Given the description of an element on the screen output the (x, y) to click on. 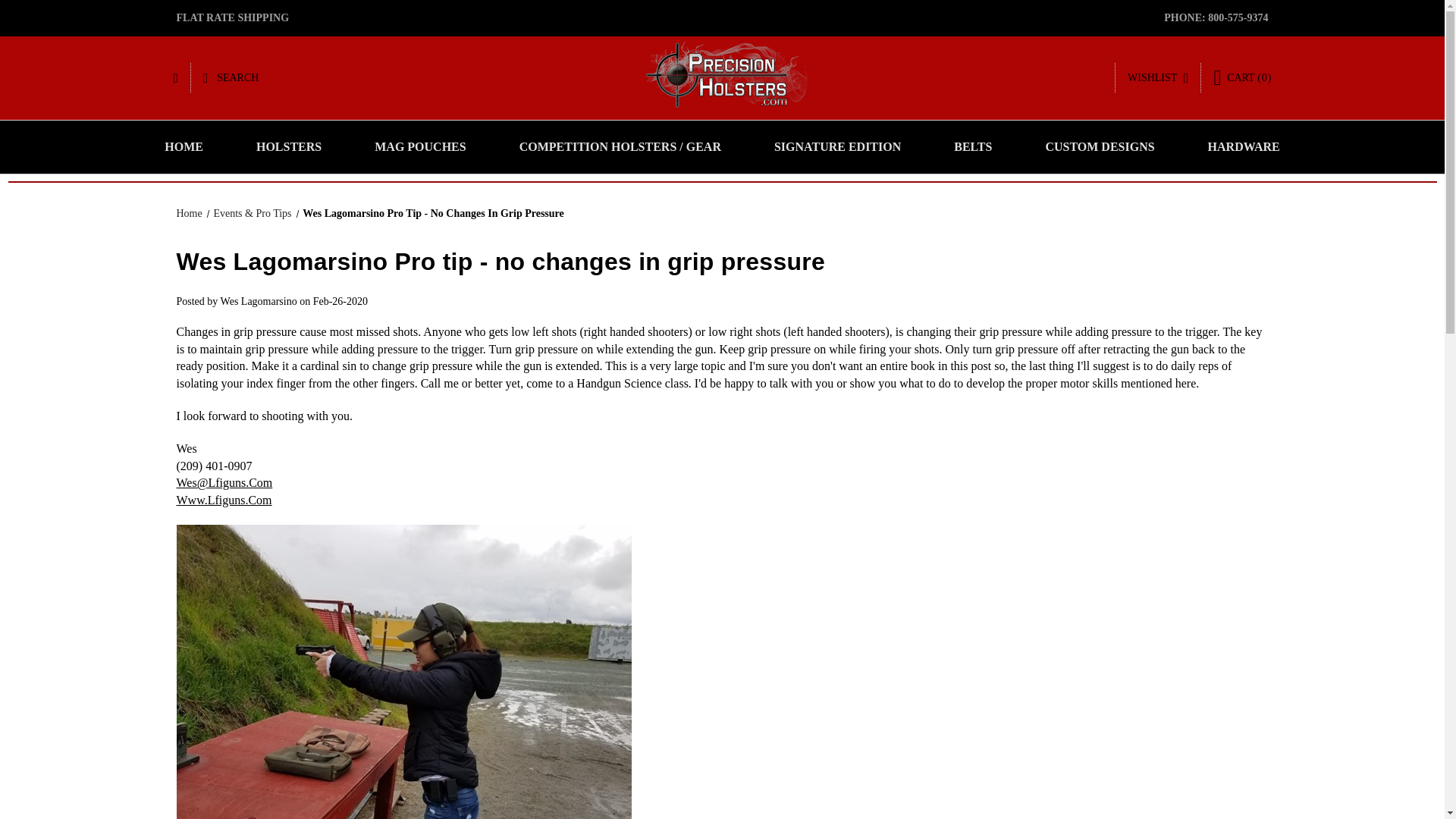
Precision Holsters (722, 78)
CART 0 (1241, 77)
Home (189, 213)
BELTS (972, 146)
MAG POUCHES (419, 146)
800-575-9374 (1238, 17)
HOME (184, 146)
SIGNATURE EDITION (837, 146)
SEARCH (230, 78)
Wes Lagomarsino Pro tip - no changes in grip pressure (500, 261)
